Given the description of an element on the screen output the (x, y) to click on. 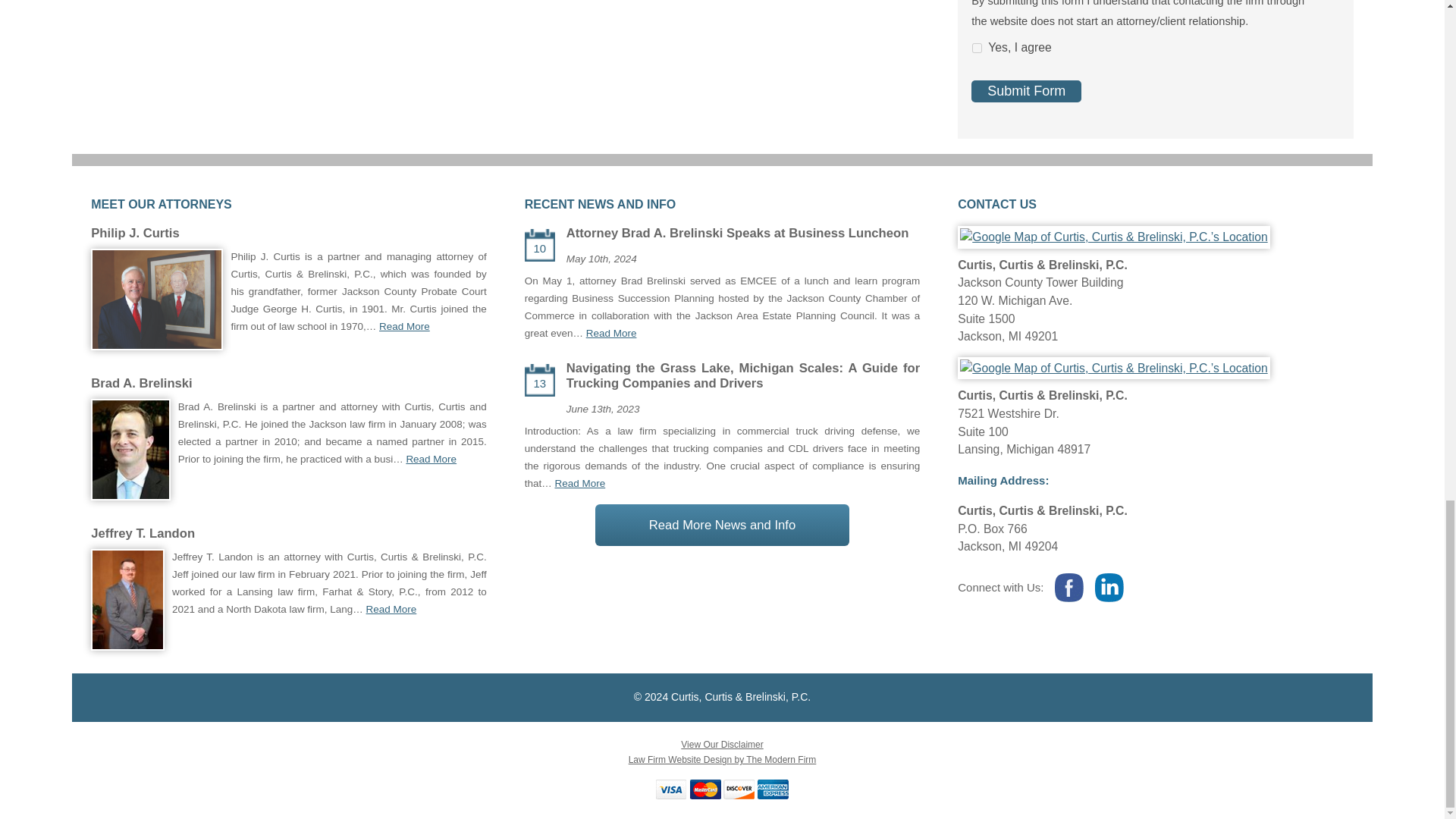
Submit Form (1026, 91)
Yes, I agree (976, 48)
